Given the description of an element on the screen output the (x, y) to click on. 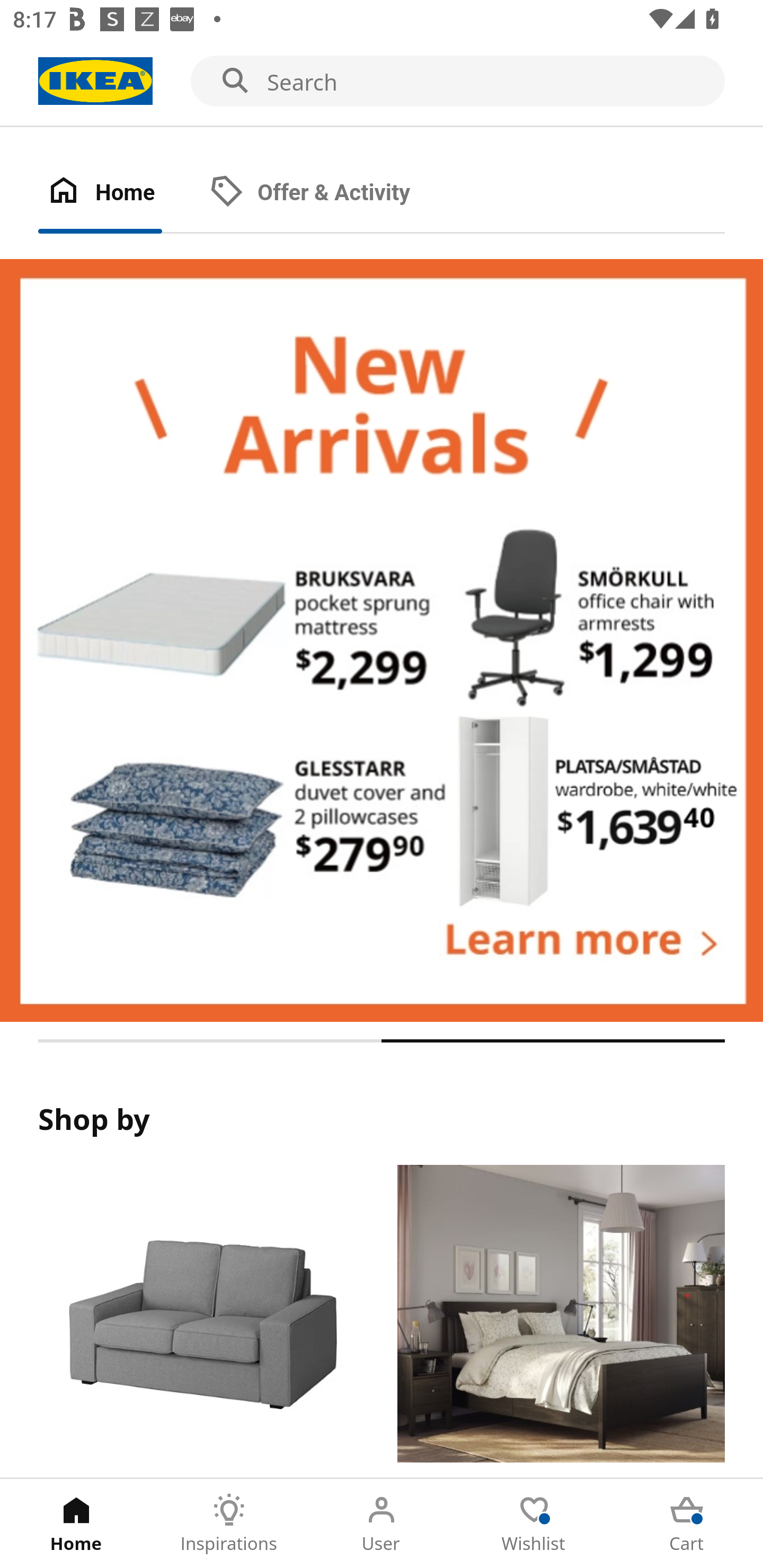
Search (381, 81)
Home
Tab 1 of 2 (118, 192)
Offer & Activity
Tab 2 of 2 (327, 192)
Products (201, 1321)
Rooms (560, 1321)
Home
Tab 1 of 5 (76, 1522)
Inspirations
Tab 2 of 5 (228, 1522)
User
Tab 3 of 5 (381, 1522)
Wishlist
Tab 4 of 5 (533, 1522)
Cart
Tab 5 of 5 (686, 1522)
